Given the description of an element on the screen output the (x, y) to click on. 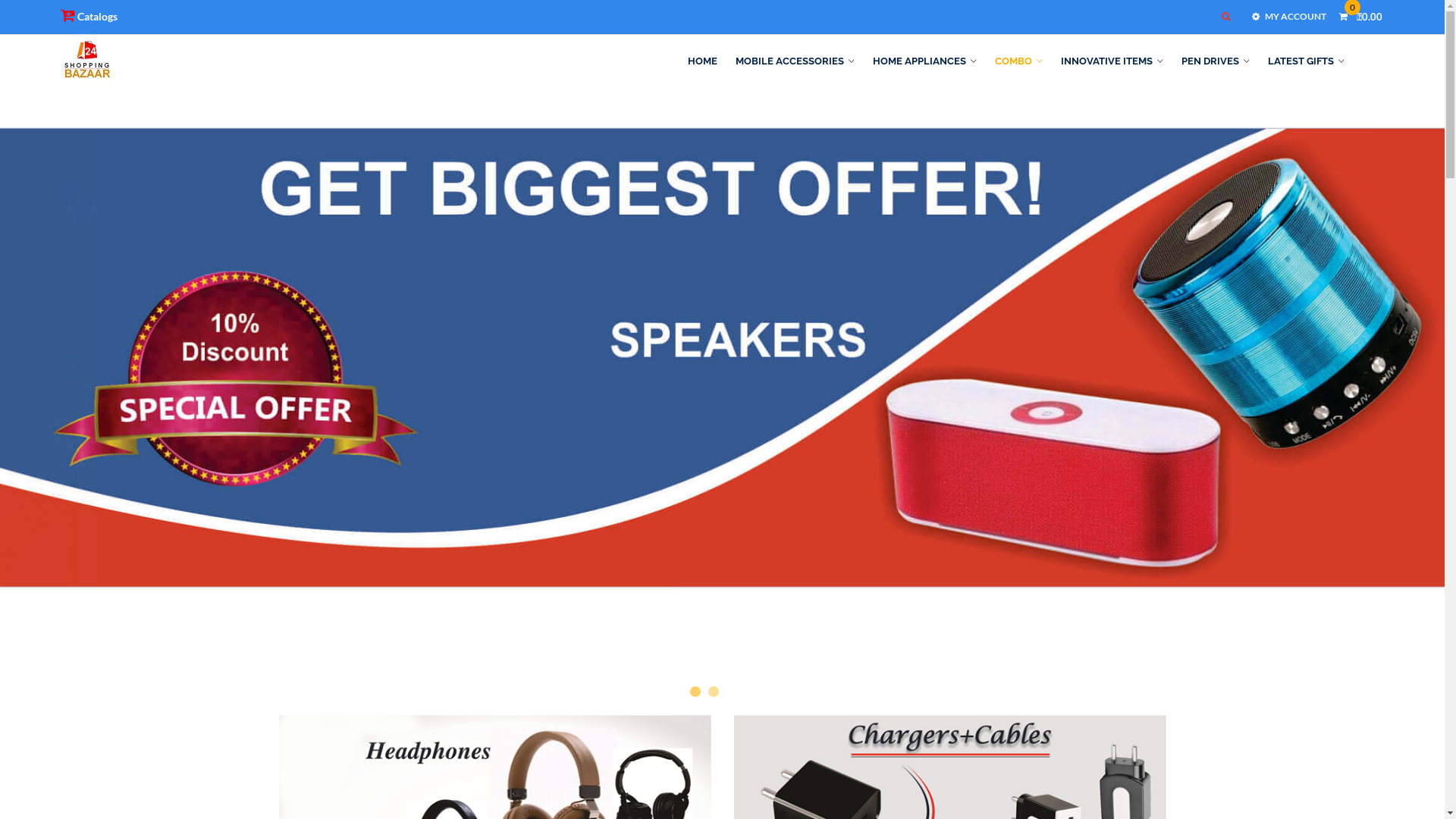
HOME Element type: text (706, 61)
LATEST GIFTS Element type: text (1305, 61)
4 Element type: text (749, 691)
INNOVATIVE ITEMS Element type: text (1111, 61)
MOBILE ACCESSORIES Element type: text (794, 61)
Catalogs Element type: text (88, 15)
2 Element type: text (713, 691)
HOME APPLIANCES Element type: text (924, 61)
COMBO Element type: text (1018, 61)
24 Shopping Bazaar Element type: hover (86, 60)
1 Element type: text (695, 691)
PEN DRIVES Element type: text (1215, 61)
3 Element type: text (731, 691)
